Given the description of an element on the screen output the (x, y) to click on. 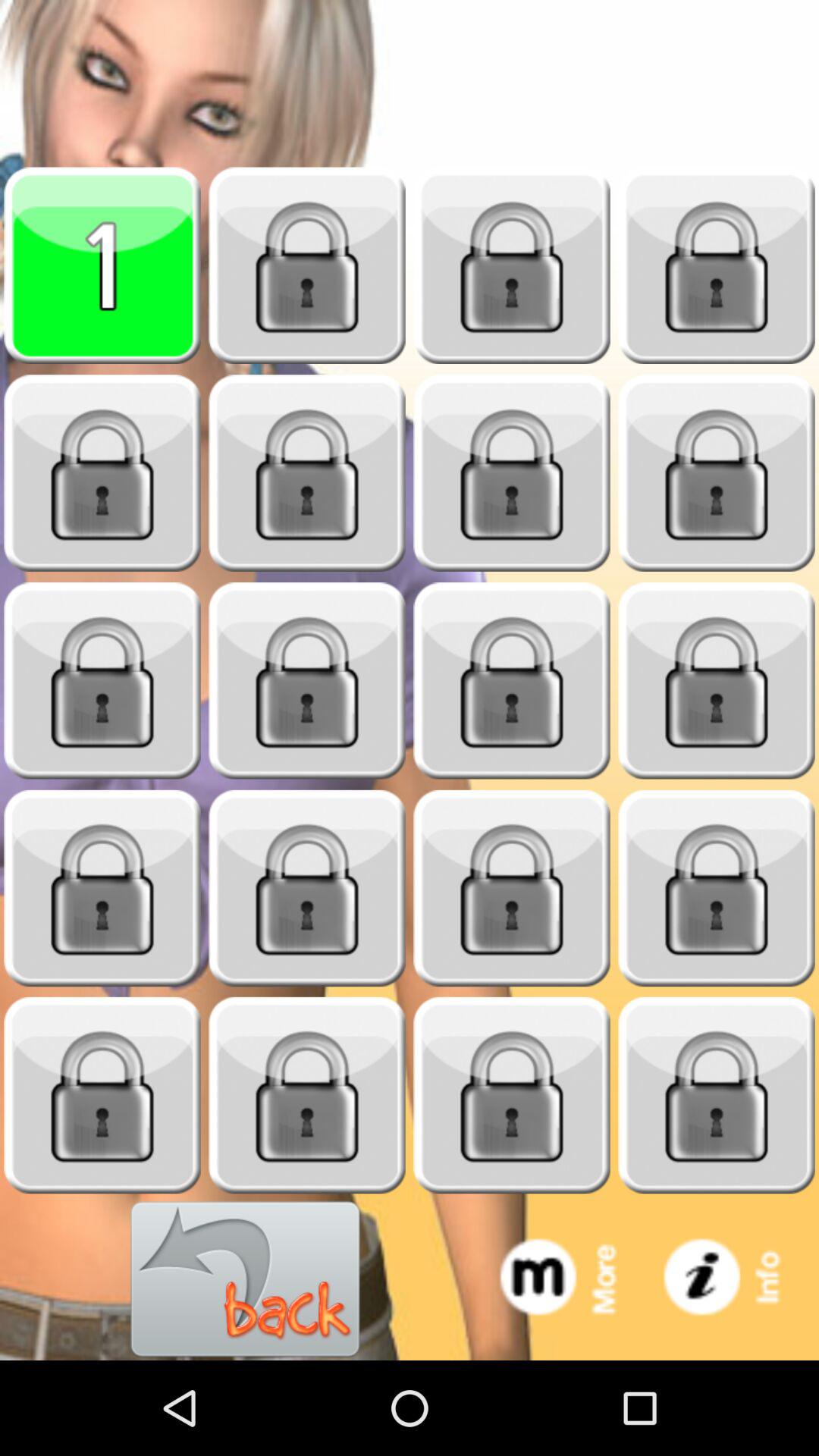
next to open (716, 473)
